Given the description of an element on the screen output the (x, y) to click on. 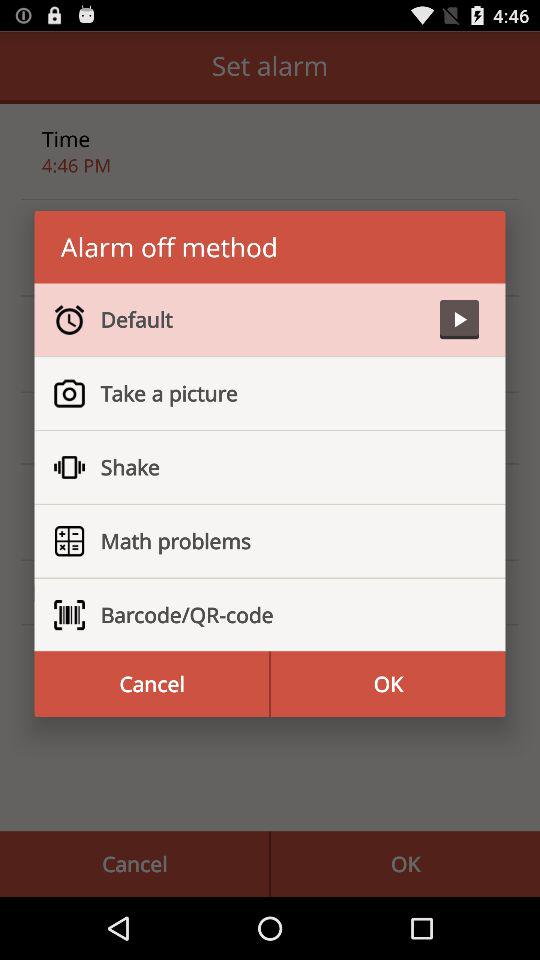
click default (262, 319)
